Given the description of an element on the screen output the (x, y) to click on. 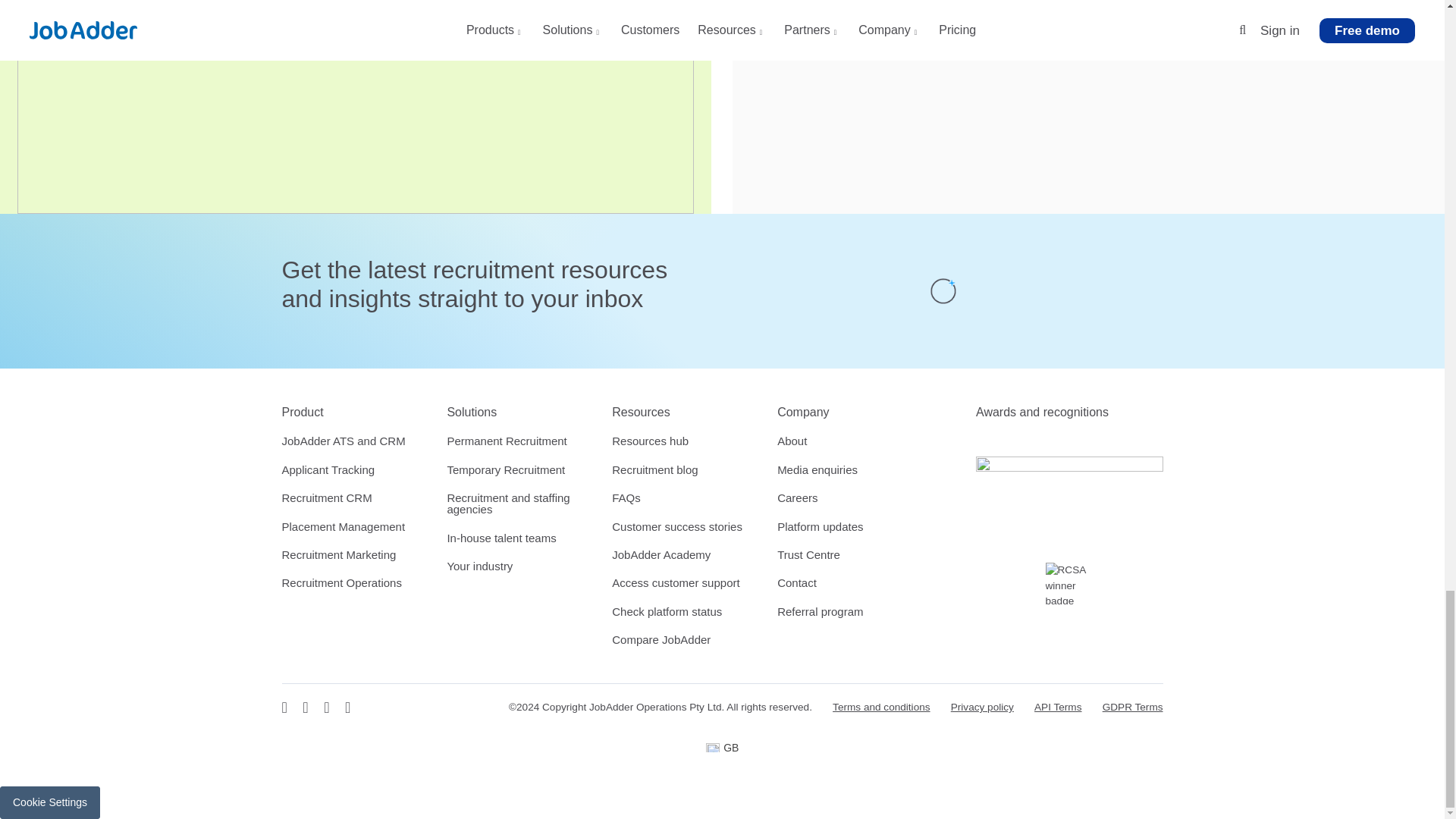
GDPR Terms (1132, 706)
API Terms (1057, 706)
Terms and conditions (881, 706)
Privacy policy (981, 706)
